Given the description of an element on the screen output the (x, y) to click on. 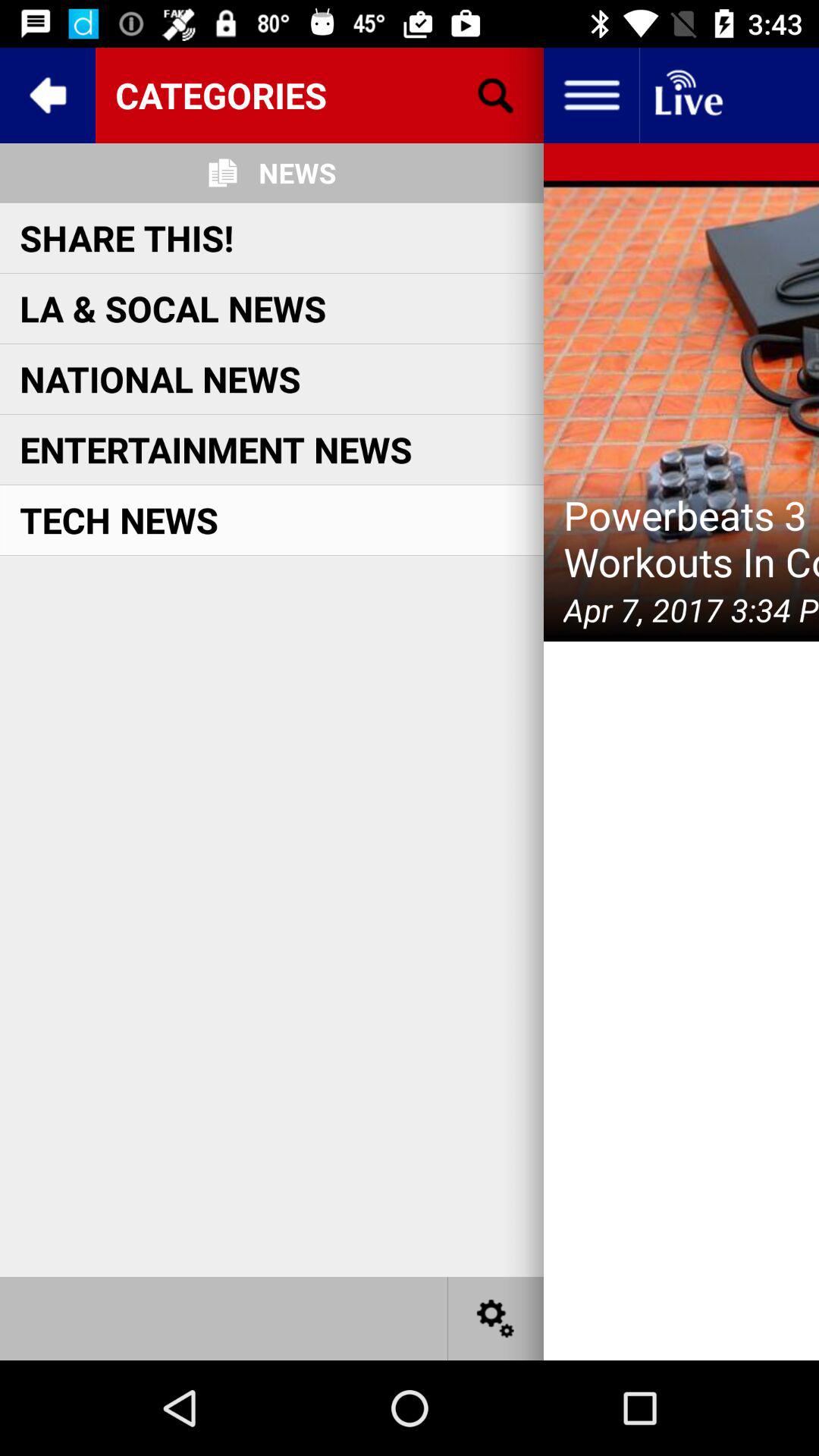
launch the item above la & socal news icon (126, 237)
